Given the description of an element on the screen output the (x, y) to click on. 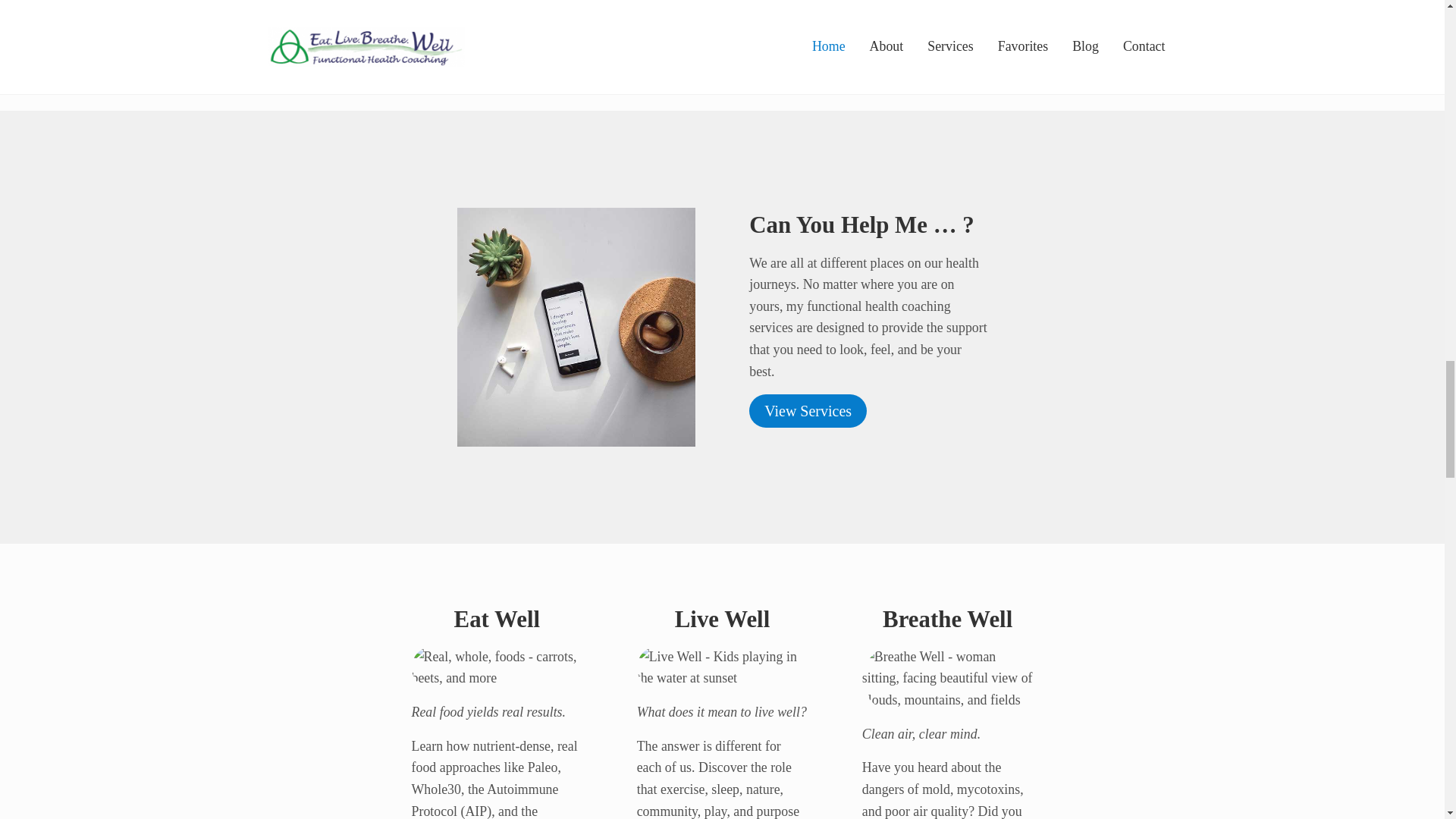
View Services (807, 410)
